Given the description of an element on the screen output the (x, y) to click on. 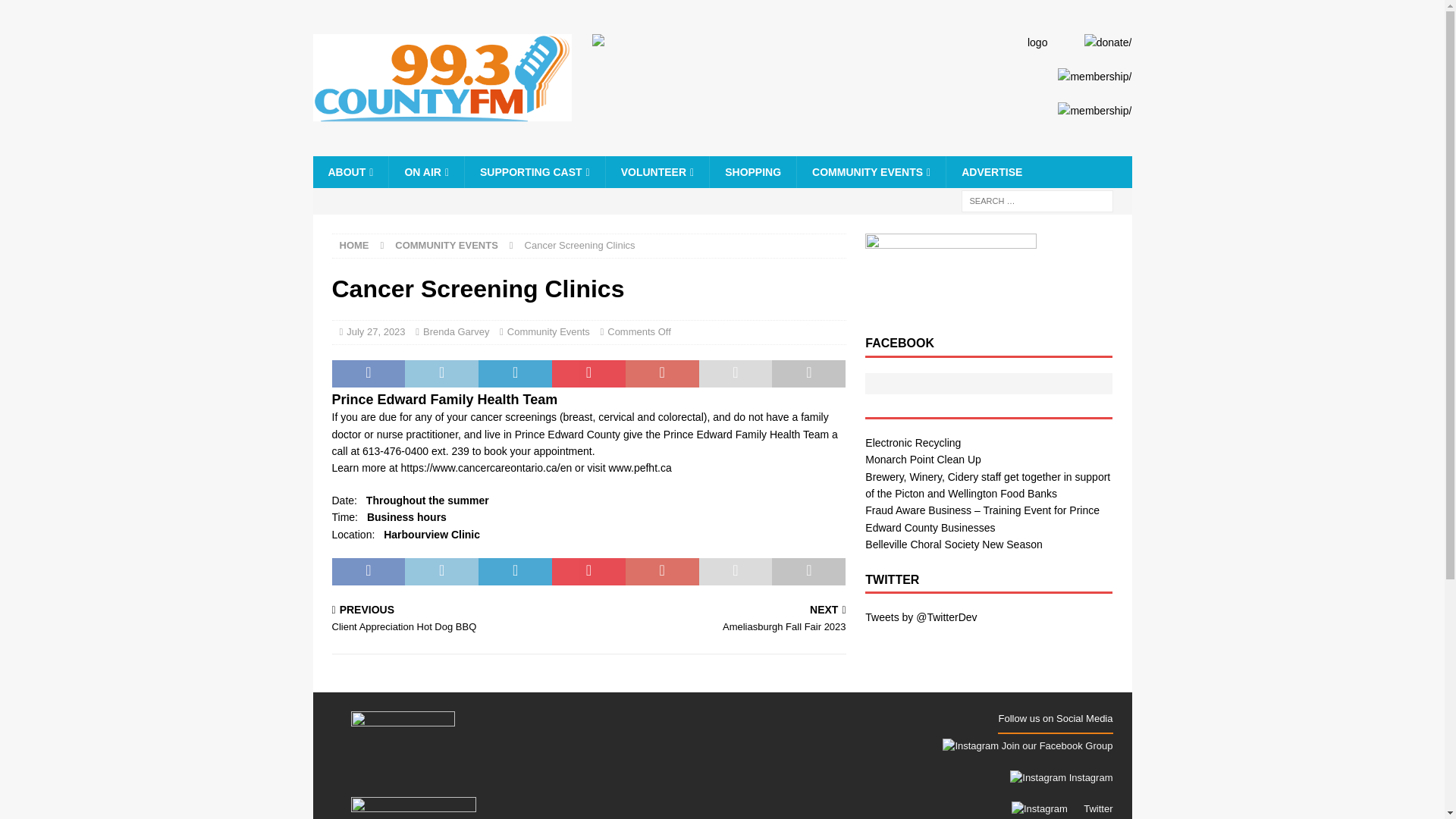
ON AIR (426, 172)
HOME (354, 244)
SUPPORTING CAST (534, 172)
COMMUNITY EVENTS (445, 244)
ABOUT (350, 172)
ADVERTISE (990, 172)
Search (56, 11)
COMMUNITY EVENTS (870, 172)
SHOPPING (752, 172)
VOLUNTEER (657, 172)
